Given the description of an element on the screen output the (x, y) to click on. 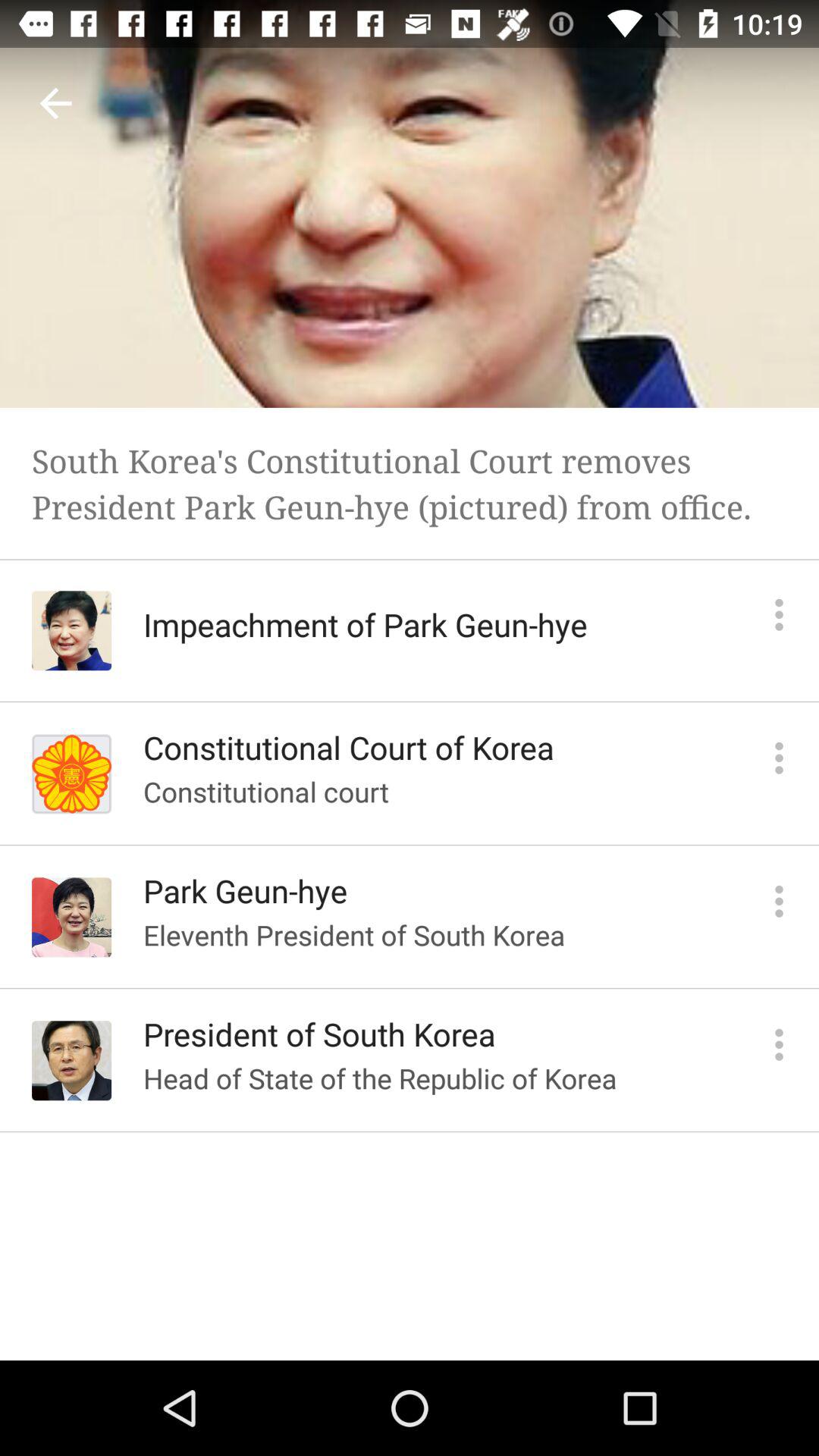
more (779, 614)
